Given the description of an element on the screen output the (x, y) to click on. 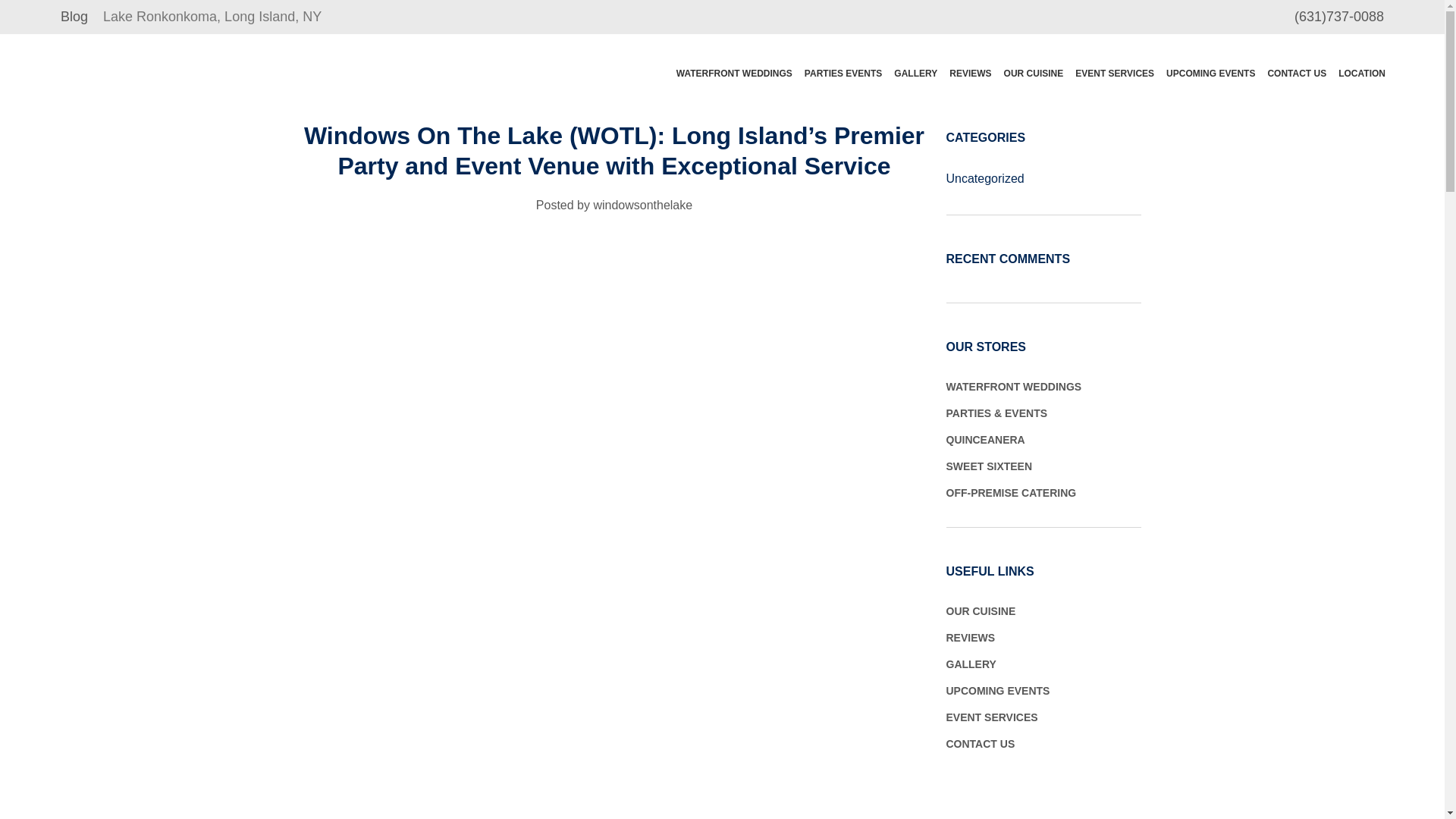
CONTACT US (1296, 73)
Blog (74, 16)
EVENT SERVICES (1114, 73)
PARTIES EVENTS (842, 73)
WATERFRONT WEDDINGS (733, 73)
UPCOMING EVENTS (1210, 73)
LOCATION (1361, 73)
REVIEWS (970, 73)
OUR CUISINE (1033, 73)
GALLERY (915, 73)
